Given the description of an element on the screen output the (x, y) to click on. 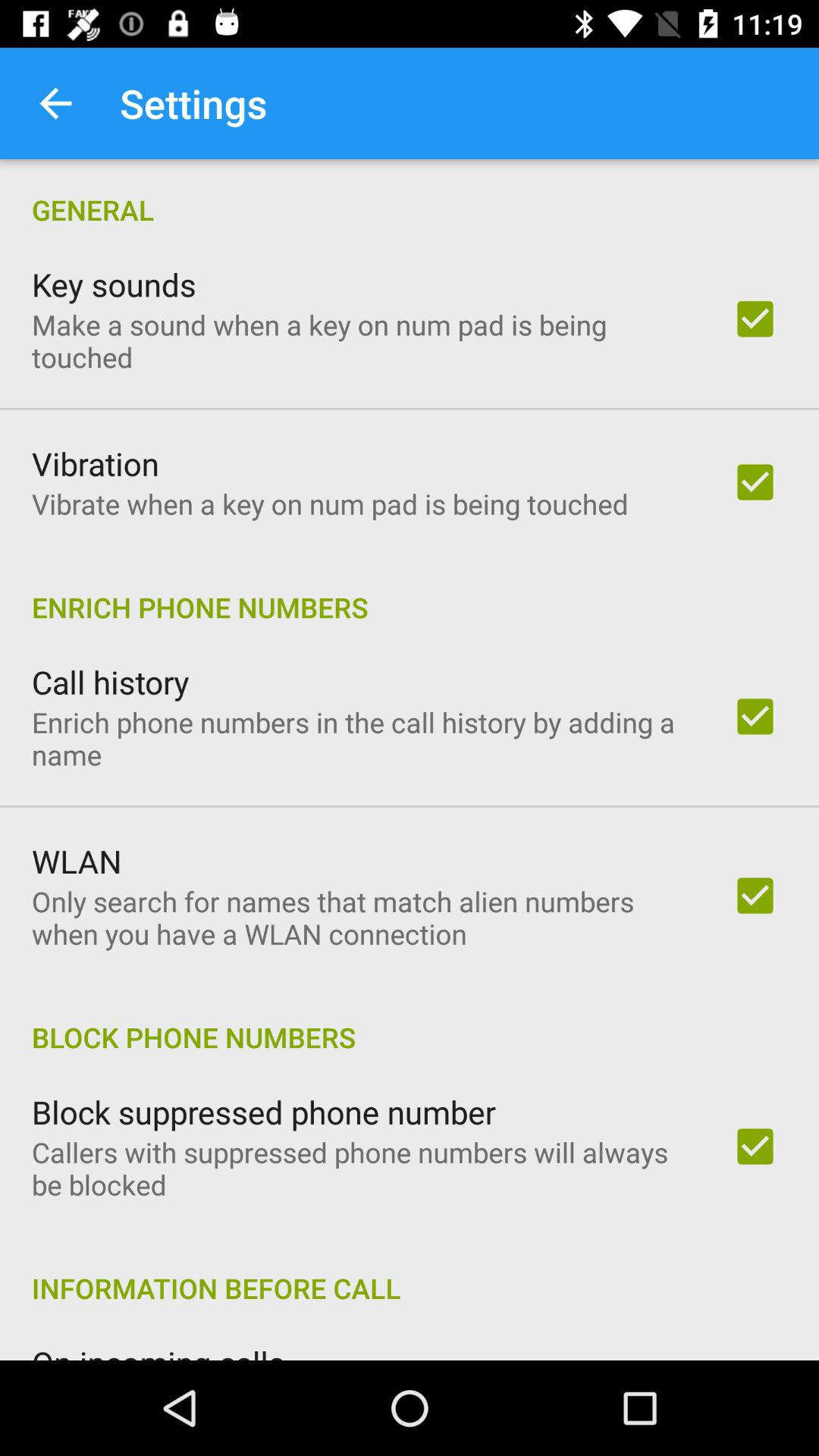
choose item above information before call icon (361, 1168)
